Given the description of an element on the screen output the (x, y) to click on. 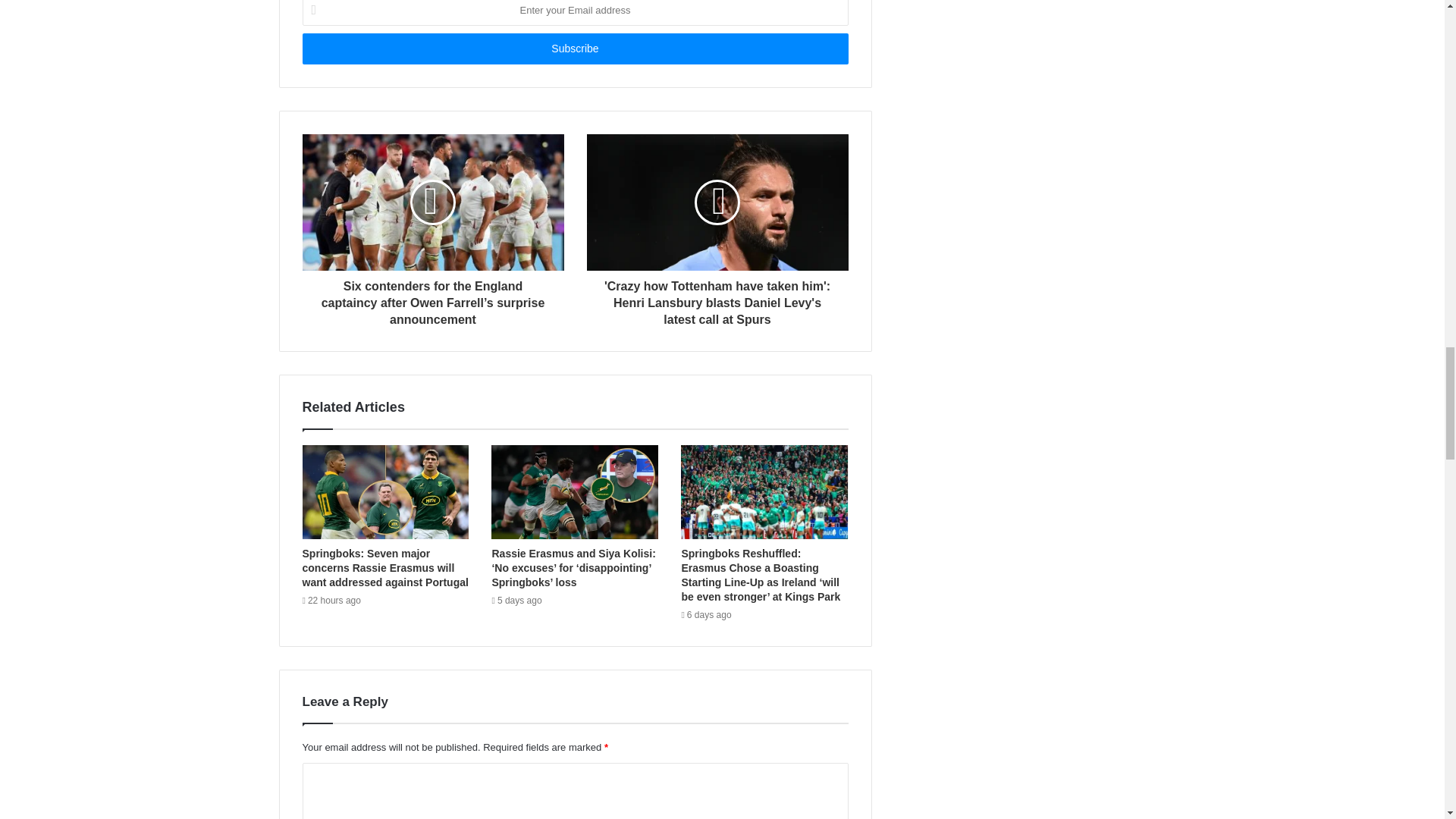
Subscribe (574, 48)
